Given the description of an element on the screen output the (x, y) to click on. 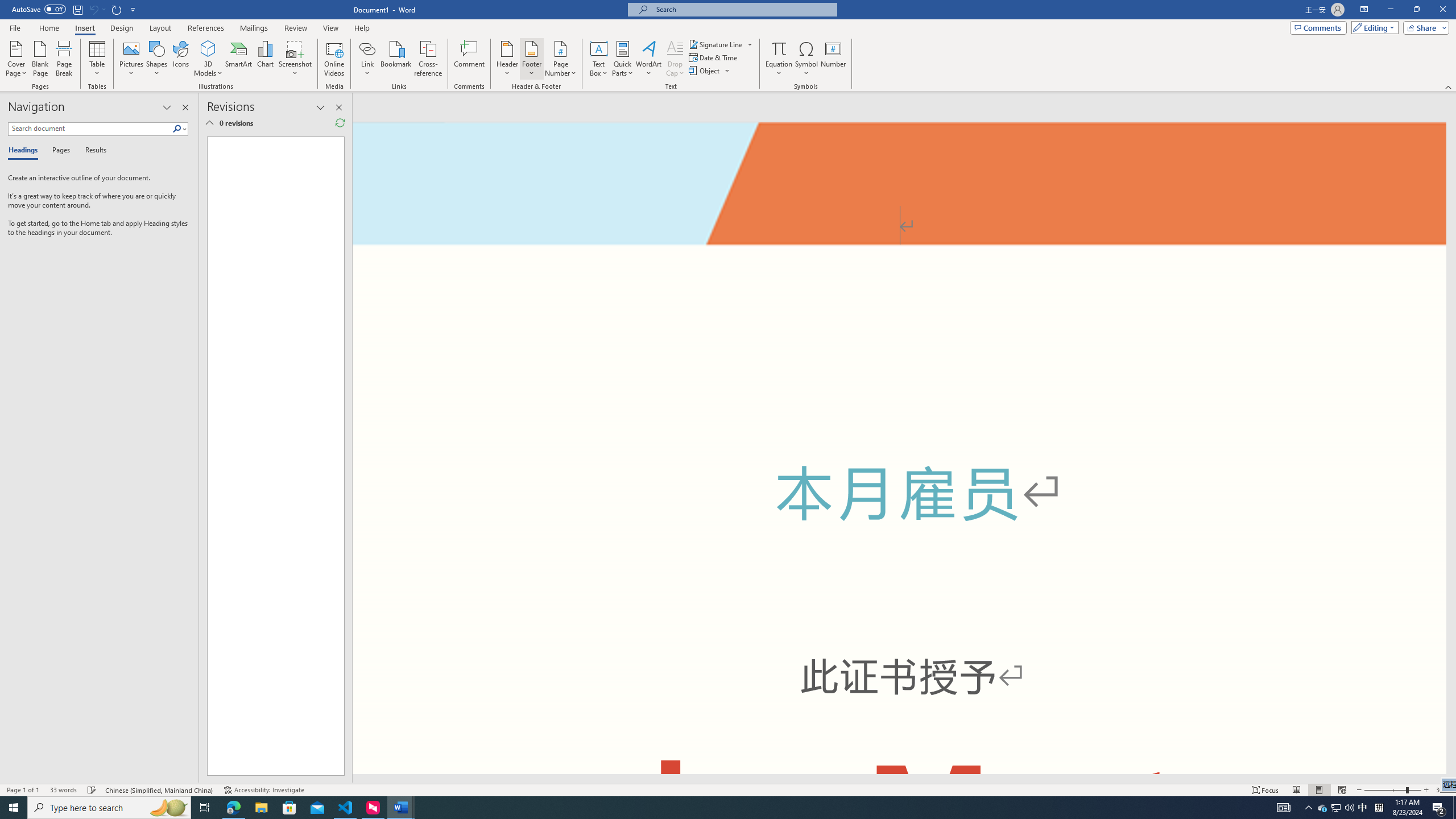
Header (507, 58)
Bookmark... (396, 58)
Shapes (156, 58)
Chart... (265, 58)
Date & Time... (714, 56)
Object... (705, 69)
Text Box (598, 58)
